Given the description of an element on the screen output the (x, y) to click on. 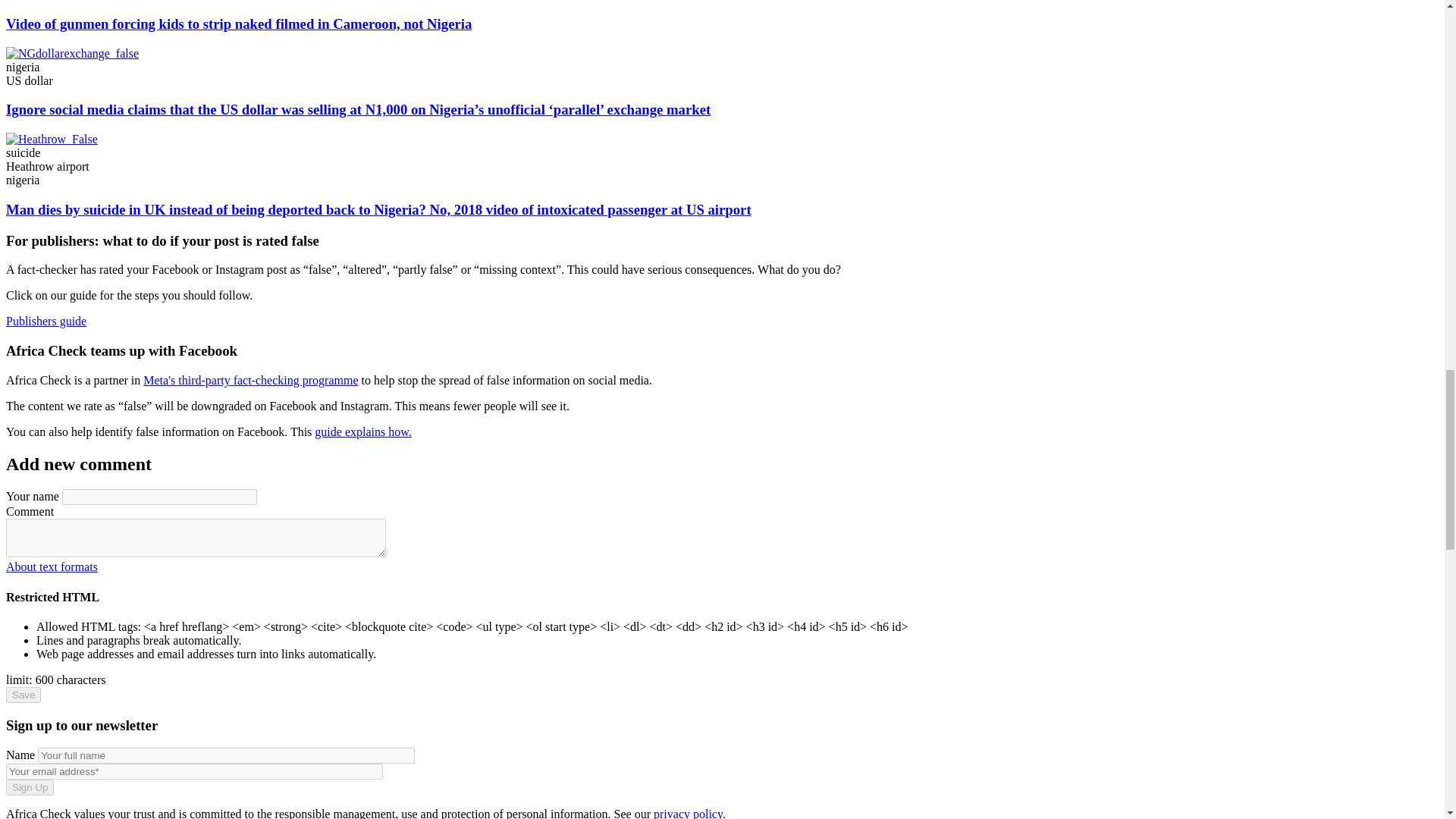
Sign Up (29, 787)
Save (22, 694)
